Given the description of an element on the screen output the (x, y) to click on. 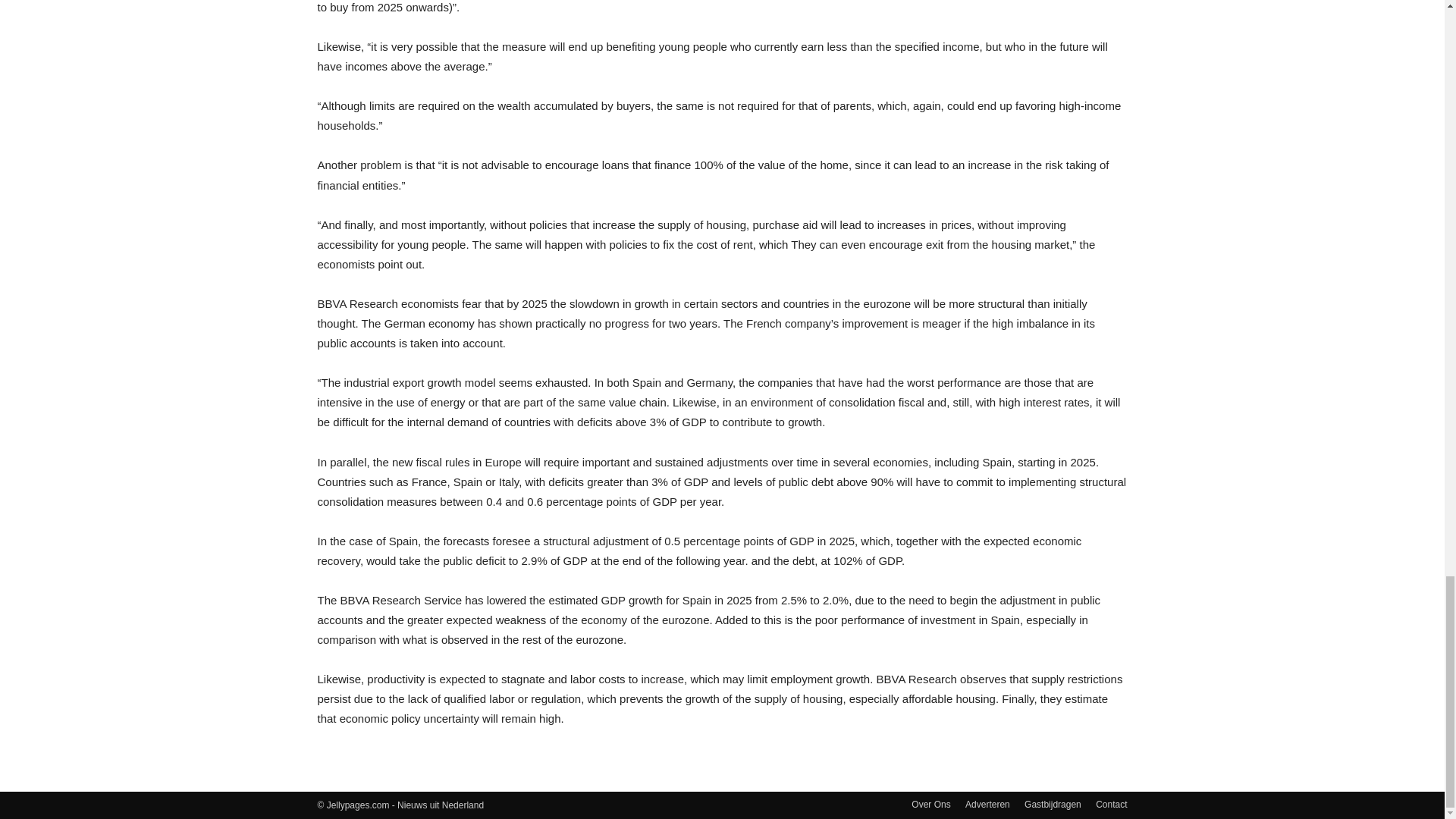
Contact (1111, 804)
Over Ons (930, 804)
Adverteren (987, 804)
Gastbijdragen (1053, 804)
